Given the description of an element on the screen output the (x, y) to click on. 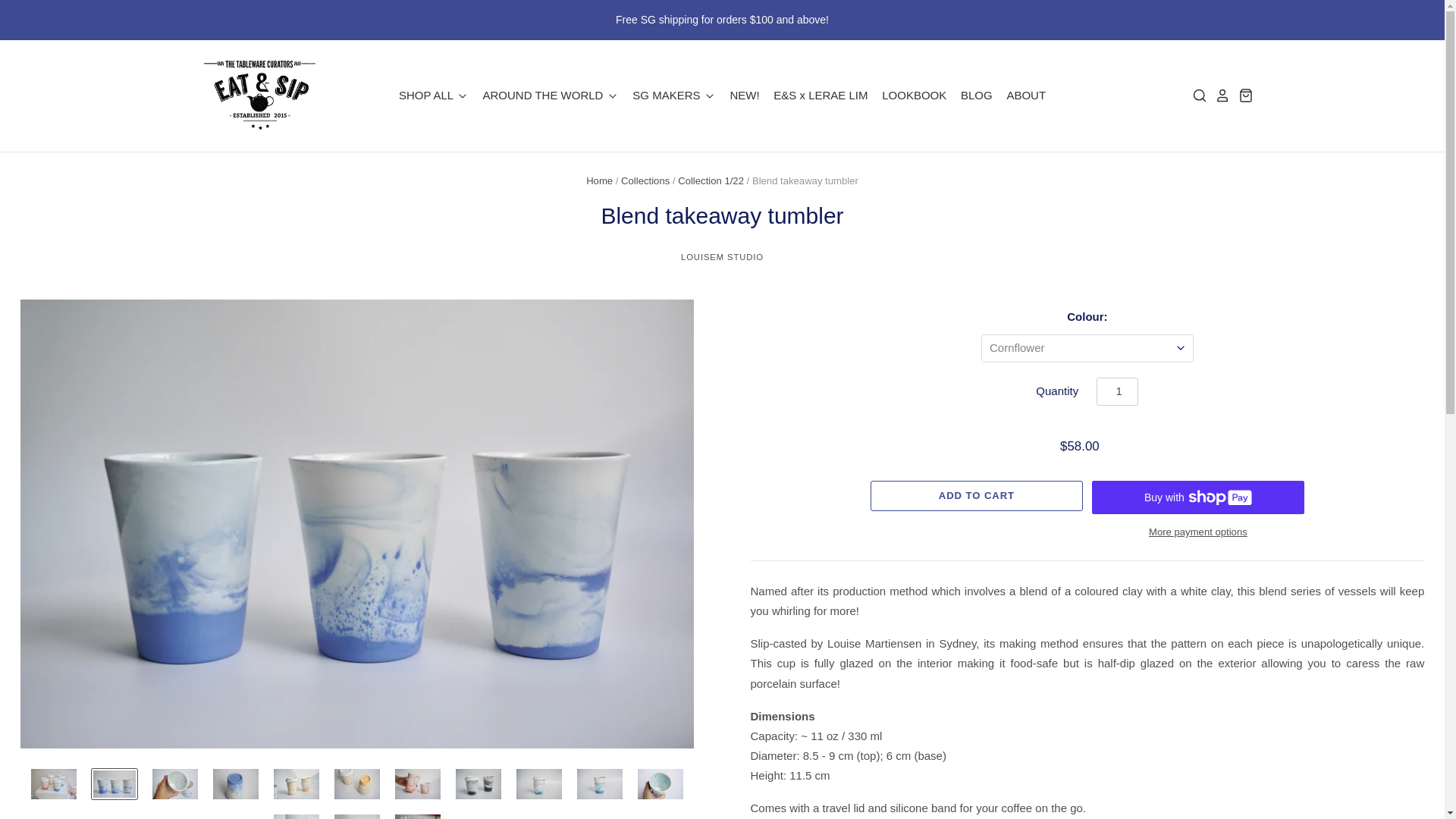
1 (1117, 391)
Add to cart (976, 495)
